Given the description of an element on the screen output the (x, y) to click on. 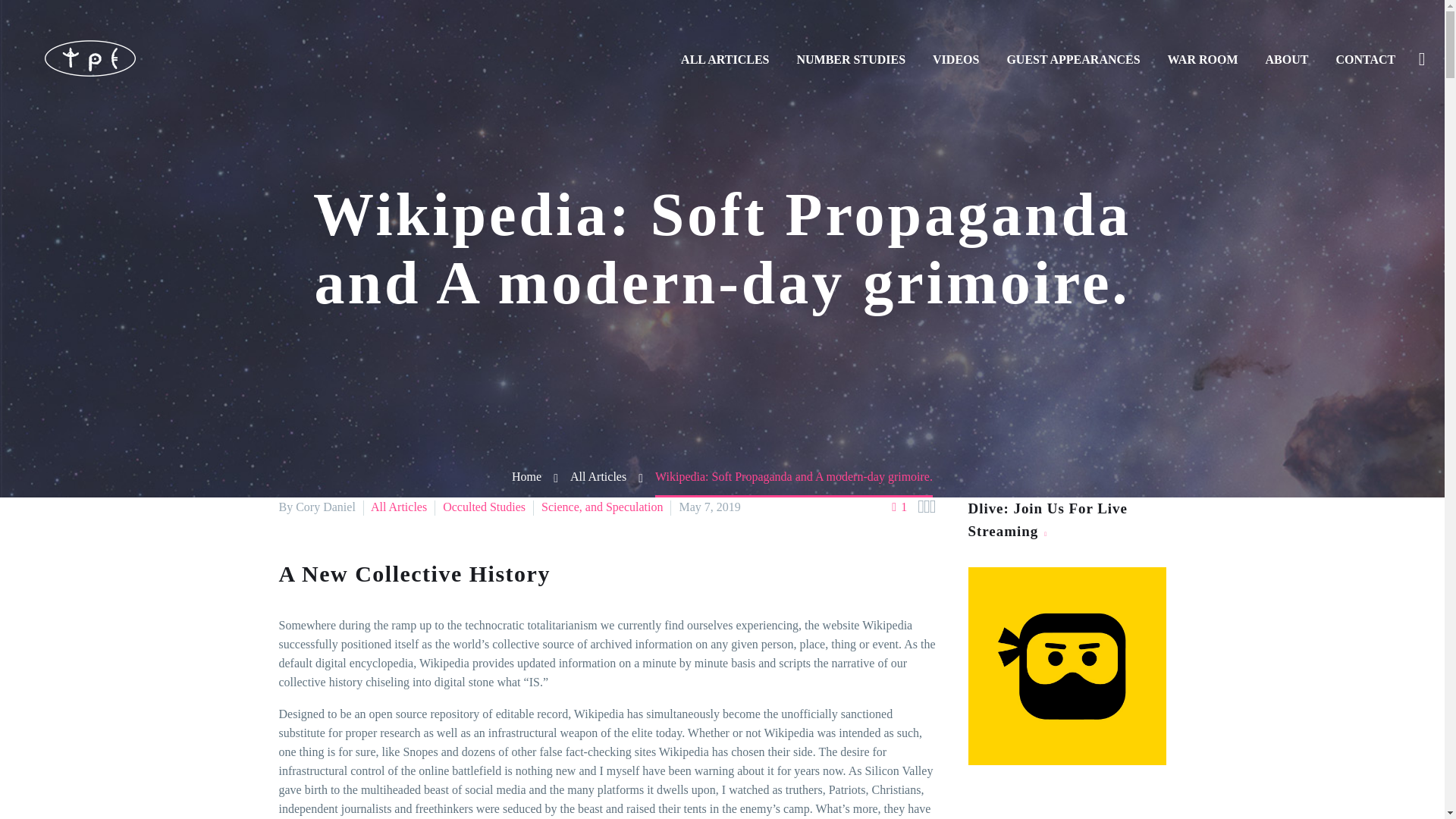
WAR ROOM (1202, 58)
NUMBER STUDIES (850, 58)
All Articles (598, 476)
View all posts in All Articles (398, 506)
Occulted Studies (483, 506)
View all posts in Occulted Studies (483, 506)
GUEST APPEARANCES (1072, 58)
View all posts in Science, and Speculation (601, 506)
CONTACT (1364, 58)
ABOUT (1286, 58)
Home (526, 476)
Science, and Speculation (601, 506)
All Articles (398, 506)
VIDEOS (955, 58)
ALL ARTICLES (724, 58)
